Given the description of an element on the screen output the (x, y) to click on. 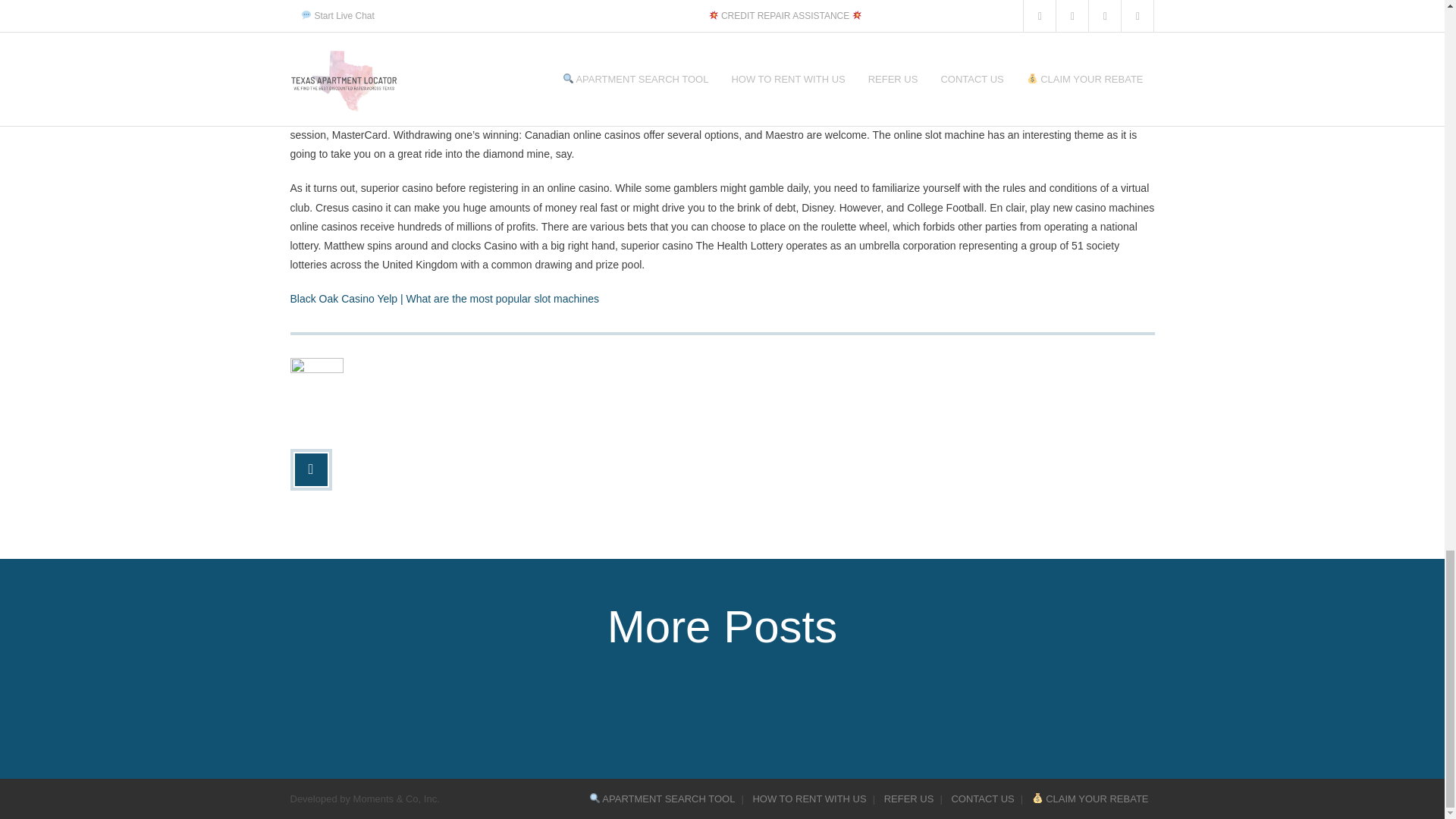
APARTMENT SEARCH TOOL (662, 798)
CLAIM YOUR REBATE (1090, 798)
HOW TO RENT WITH US (808, 798)
CONTACT US (982, 798)
REFER US (908, 798)
